Given the description of an element on the screen output the (x, y) to click on. 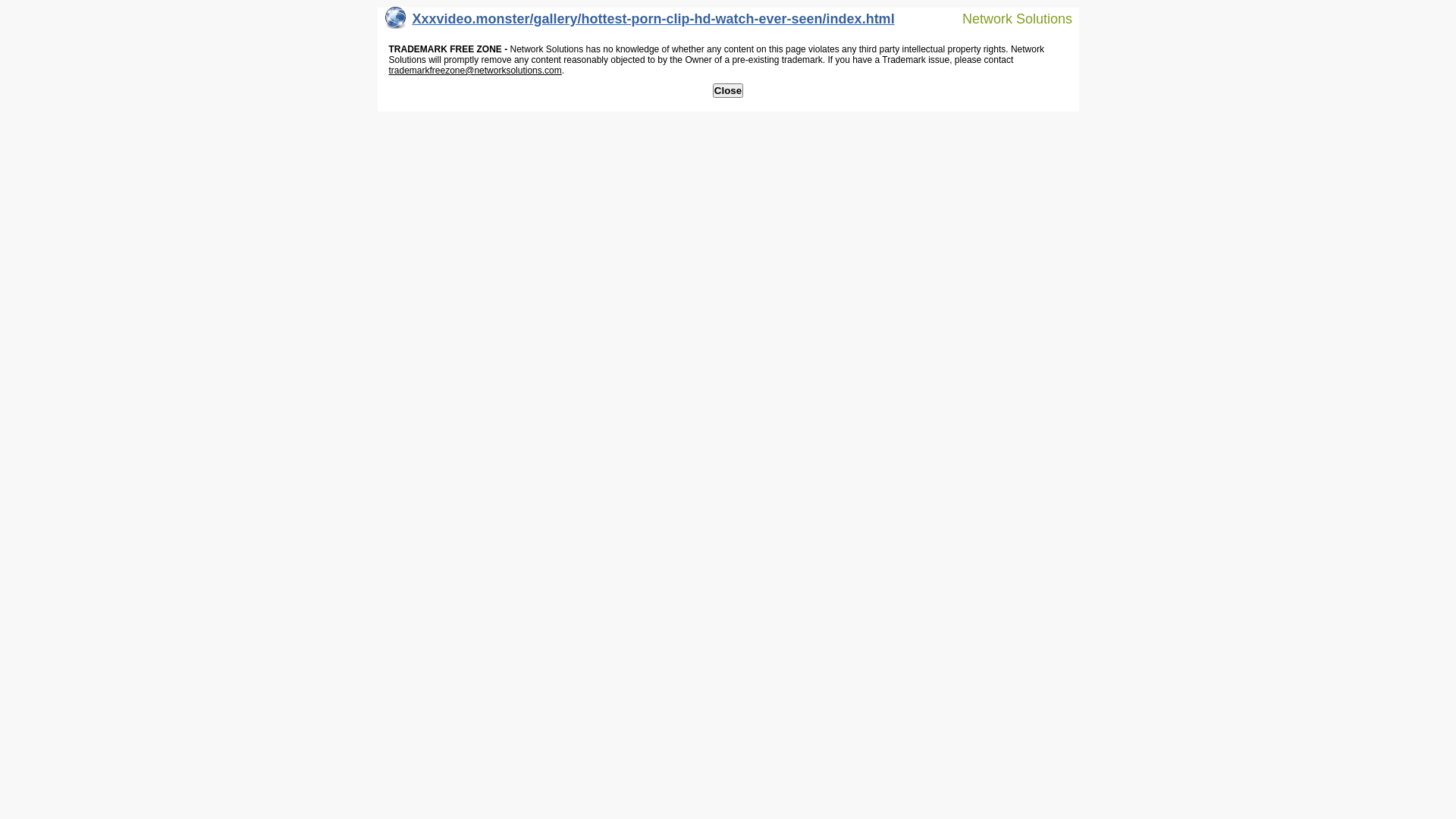
Close Element type: text (727, 90)
trademarkfreezone@networksolutions.com Element type: text (474, 70)
Network Solutions Element type: text (1007, 17)
